Given the description of an element on the screen output the (x, y) to click on. 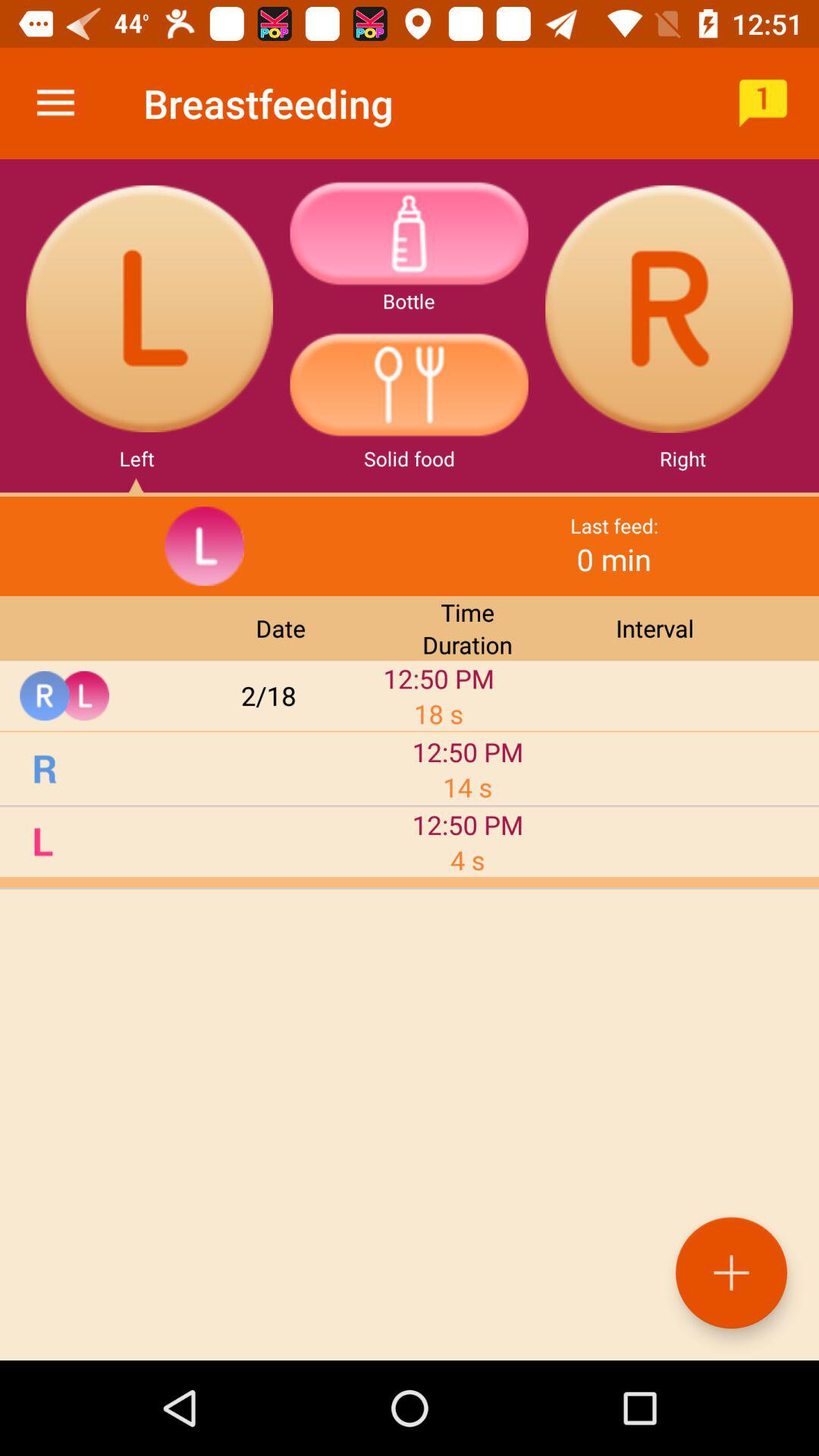
select icon to the left of the breastfeeding item (55, 103)
